Given the description of an element on the screen output the (x, y) to click on. 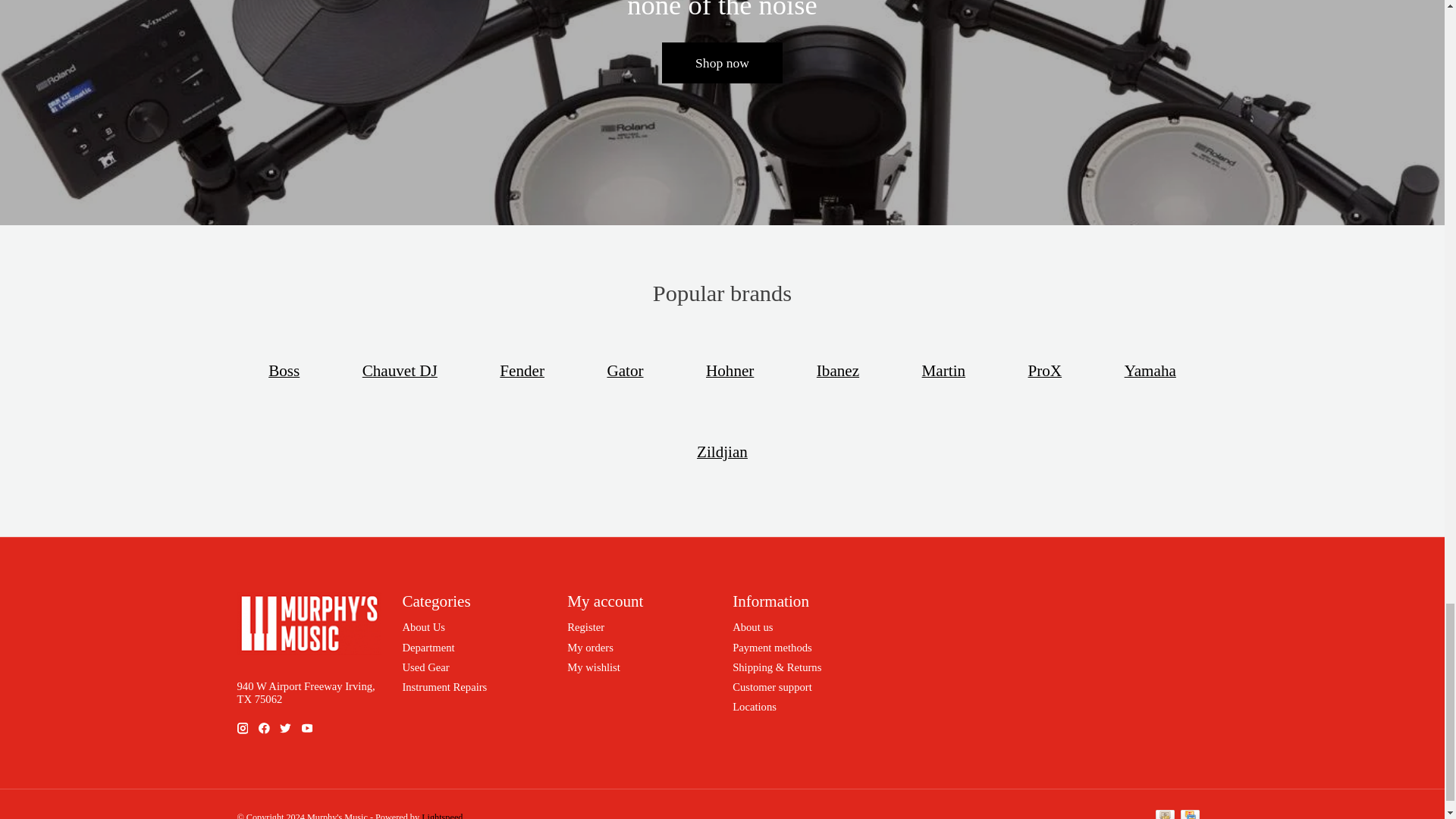
Fender (522, 370)
Chauvet DJ (399, 370)
Boss (283, 370)
